Given the description of an element on the screen output the (x, y) to click on. 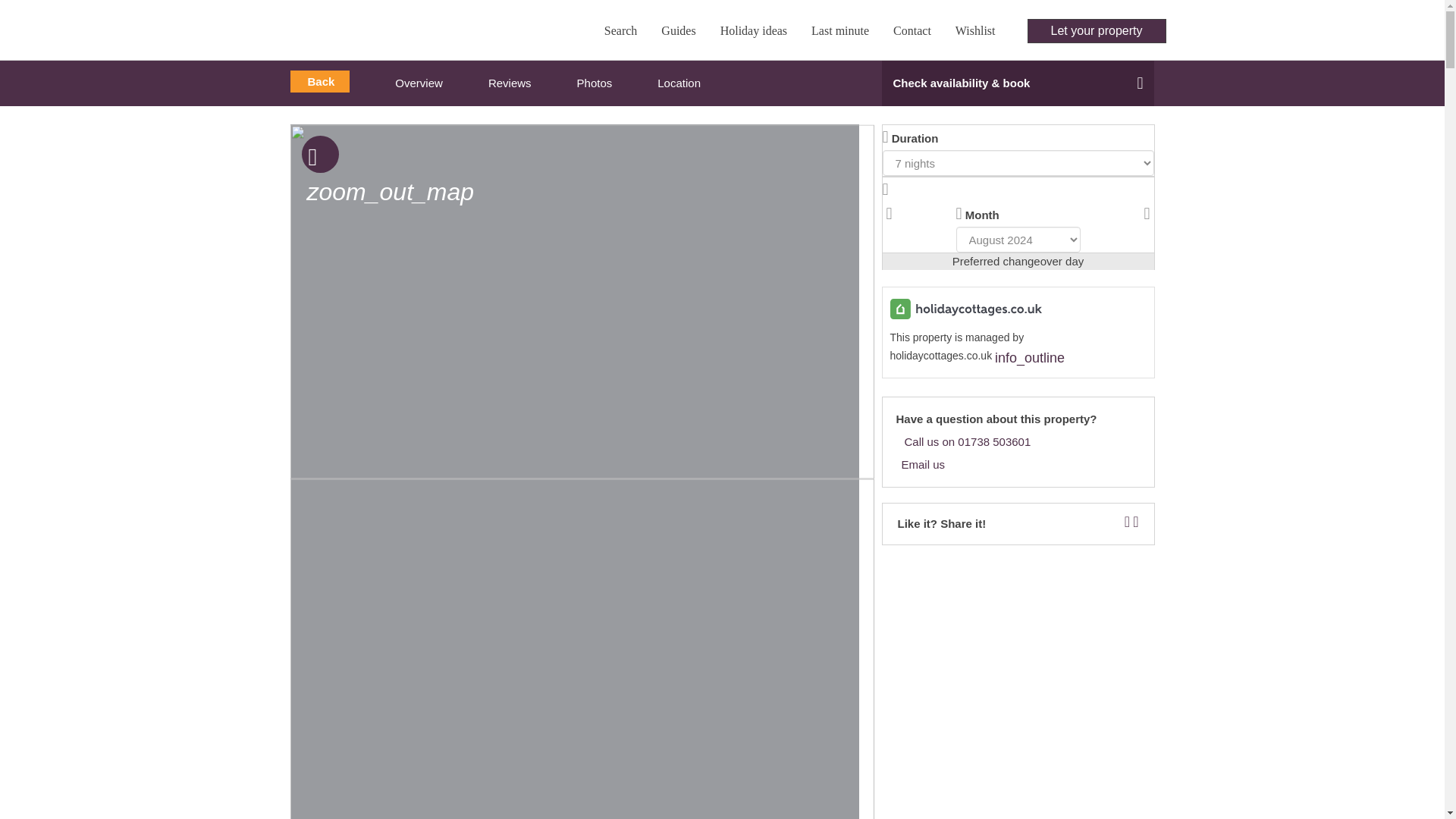
Email us (1018, 465)
Wishlist (978, 30)
Back (319, 81)
Overview (418, 82)
Last minute (839, 30)
Let your property (1096, 30)
Holiday ideas (753, 30)
Reviews (509, 82)
Location (679, 82)
Call us on 01738 503601 (1018, 442)
